Given the description of an element on the screen output the (x, y) to click on. 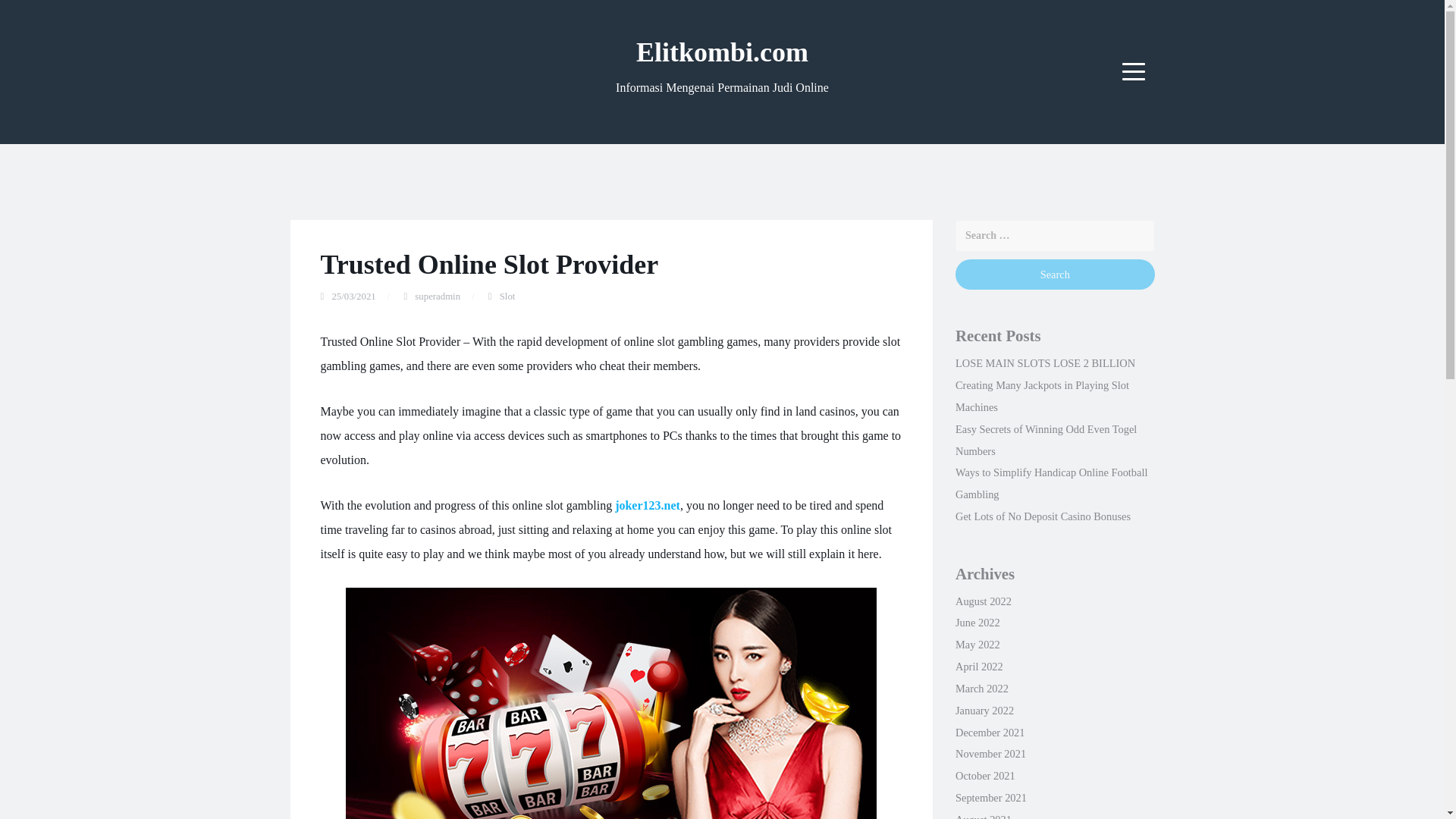
January 2022 (984, 710)
superadmin (437, 296)
Menu (1133, 71)
Get Lots of No Deposit Casino Bonuses (1043, 516)
September 2021 (990, 797)
August 2022 (983, 601)
March 2022 (982, 688)
joker123.net (646, 504)
August 2021 (983, 816)
Search (1054, 274)
Search (1054, 274)
May 2022 (977, 644)
Creating Many Jackpots in Playing Slot Machines (1042, 396)
Search (1054, 274)
Slot (507, 296)
